Given the description of an element on the screen output the (x, y) to click on. 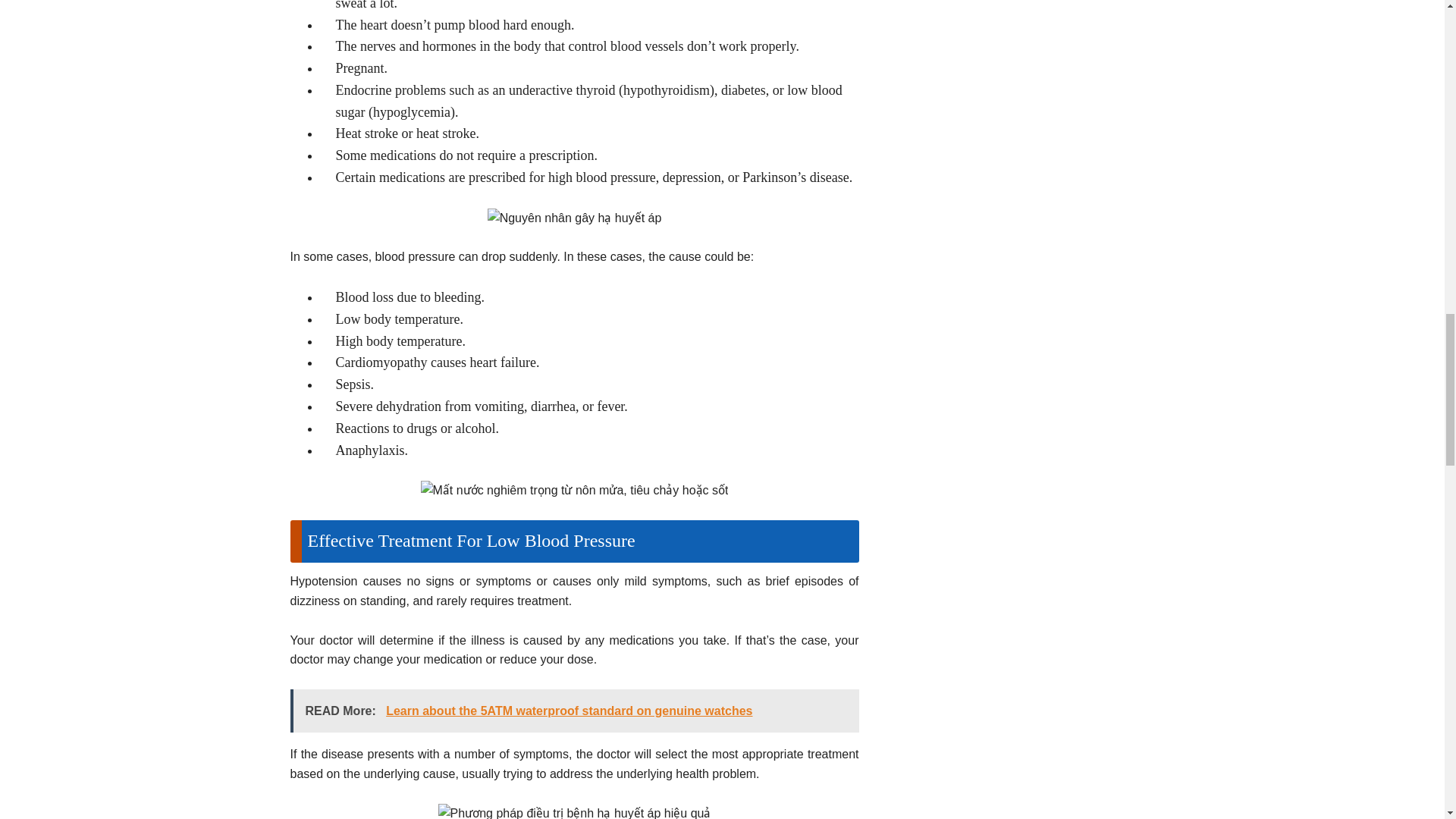
Causes of low blood pressure (574, 218)
Severe dehydration from vomiting, diarrhea, or fever (574, 490)
Effective treatment for low blood pressure (574, 811)
